Given the description of an element on the screen output the (x, y) to click on. 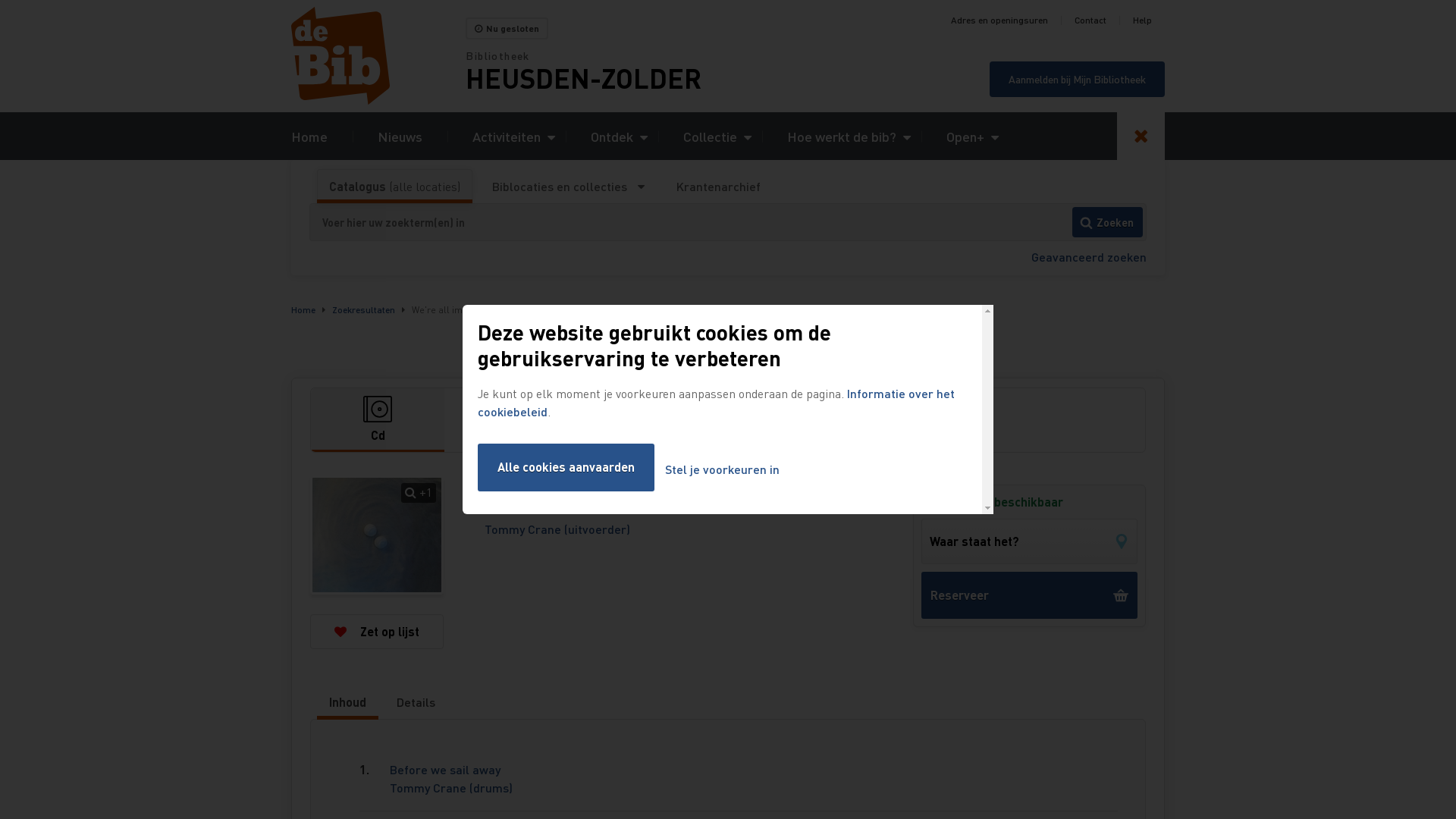
Toggle search Element type: hover (1140, 136)
Krantenarchief Element type: text (718, 186)
Tommy Crane (drums) Element type: text (450, 787)
Tommy Crane (uitvoerder) Element type: text (557, 528)
Contact Element type: text (1090, 20)
Nu gesloten Element type: text (506, 28)
Home Element type: hover (378, 55)
Inhoud Element type: text (347, 701)
Catalogus (alle locaties) Element type: text (394, 186)
Home Element type: text (303, 309)
Home Element type: text (309, 136)
Zoekresultaten Element type: text (363, 309)
Details Element type: text (415, 701)
Help Element type: text (1141, 20)
Alle cookies aanvaarden Element type: text (565, 466)
Nieuws Element type: text (399, 136)
Waar staat het? Element type: text (1029, 541)
Informatie over het cookiebeleid Element type: text (715, 402)
Aanmelden bij Mijn Bibliotheek Element type: text (1076, 79)
Zet op lijst Element type: text (376, 631)
Reserveer Element type: text (1029, 594)
Biblocaties en collecties Element type: text (567, 186)
Overslaan en naar zoeken gaan Element type: text (0, 0)
Zoeken Element type: text (1107, 222)
Before we sail away Element type: text (444, 769)
Stel je voorkeuren in Element type: text (722, 469)
Adres en openingsuren Element type: text (999, 20)
Geavanceerd zoeken Element type: text (1088, 256)
